Given the description of an element on the screen output the (x, y) to click on. 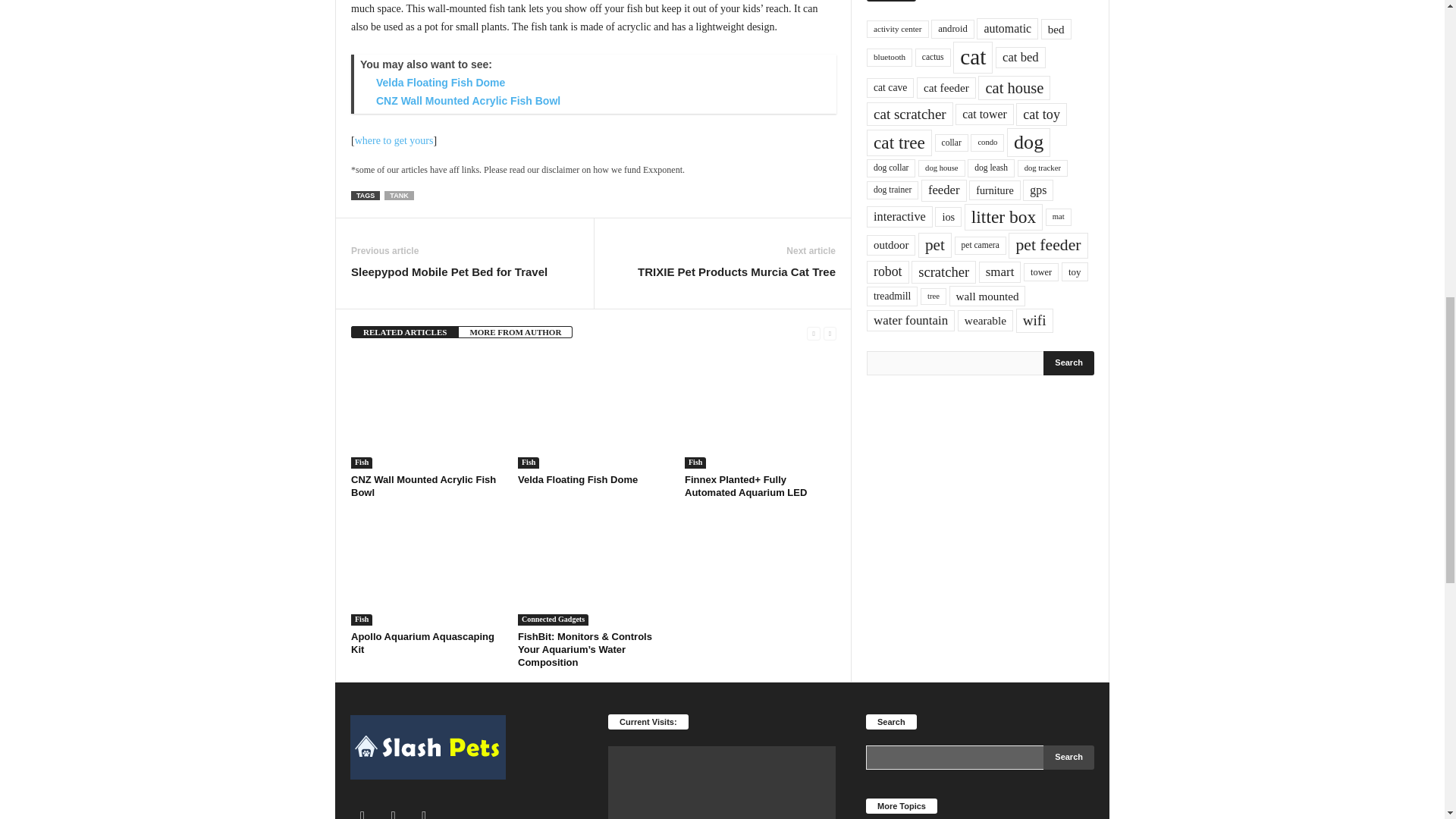
Search (1068, 757)
Search (1068, 363)
